Given the description of an element on the screen output the (x, y) to click on. 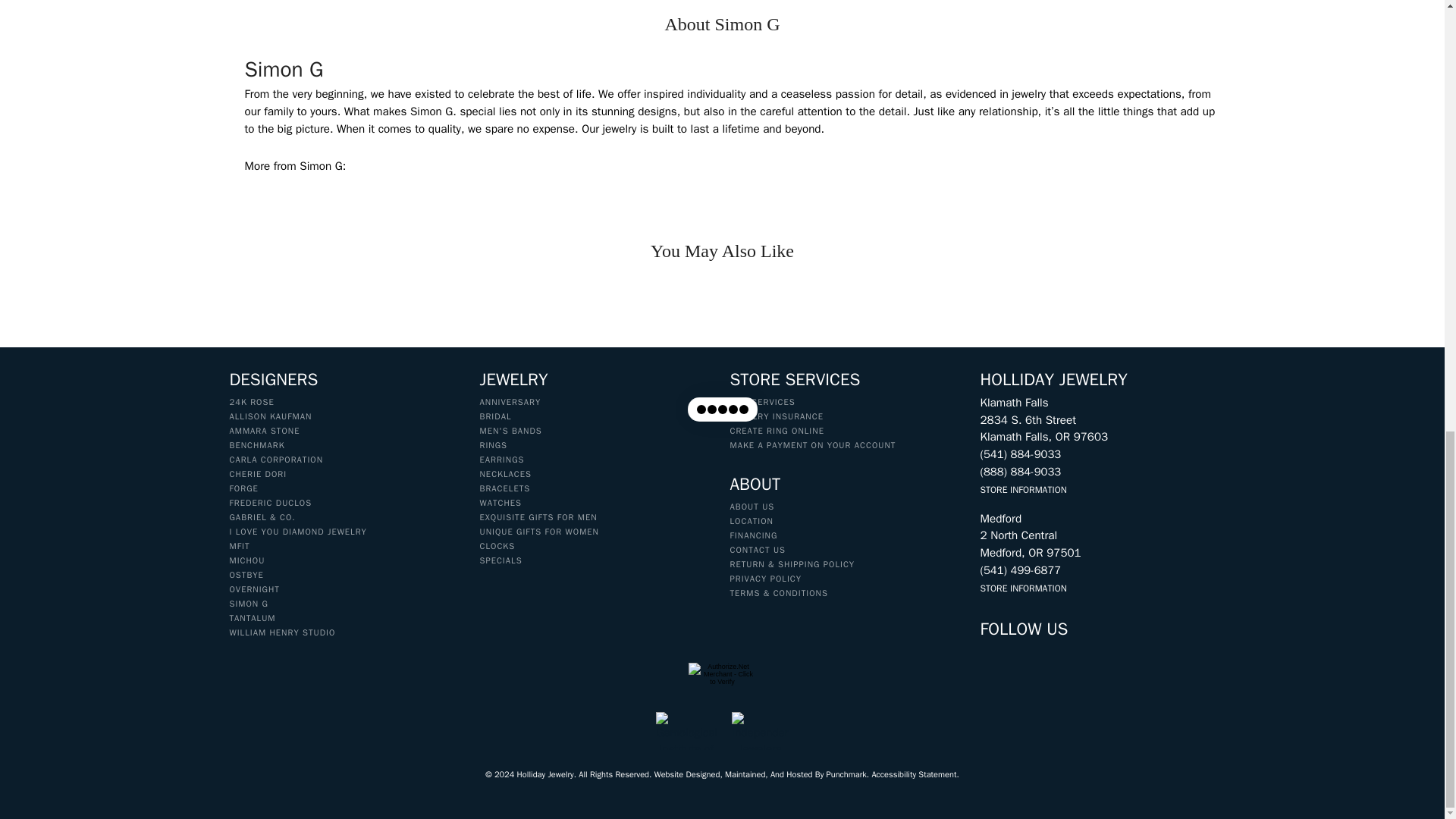
Gemological Institute of America (686, 730)
Independent Jewelers Organization (760, 730)
